Given the description of an element on the screen output the (x, y) to click on. 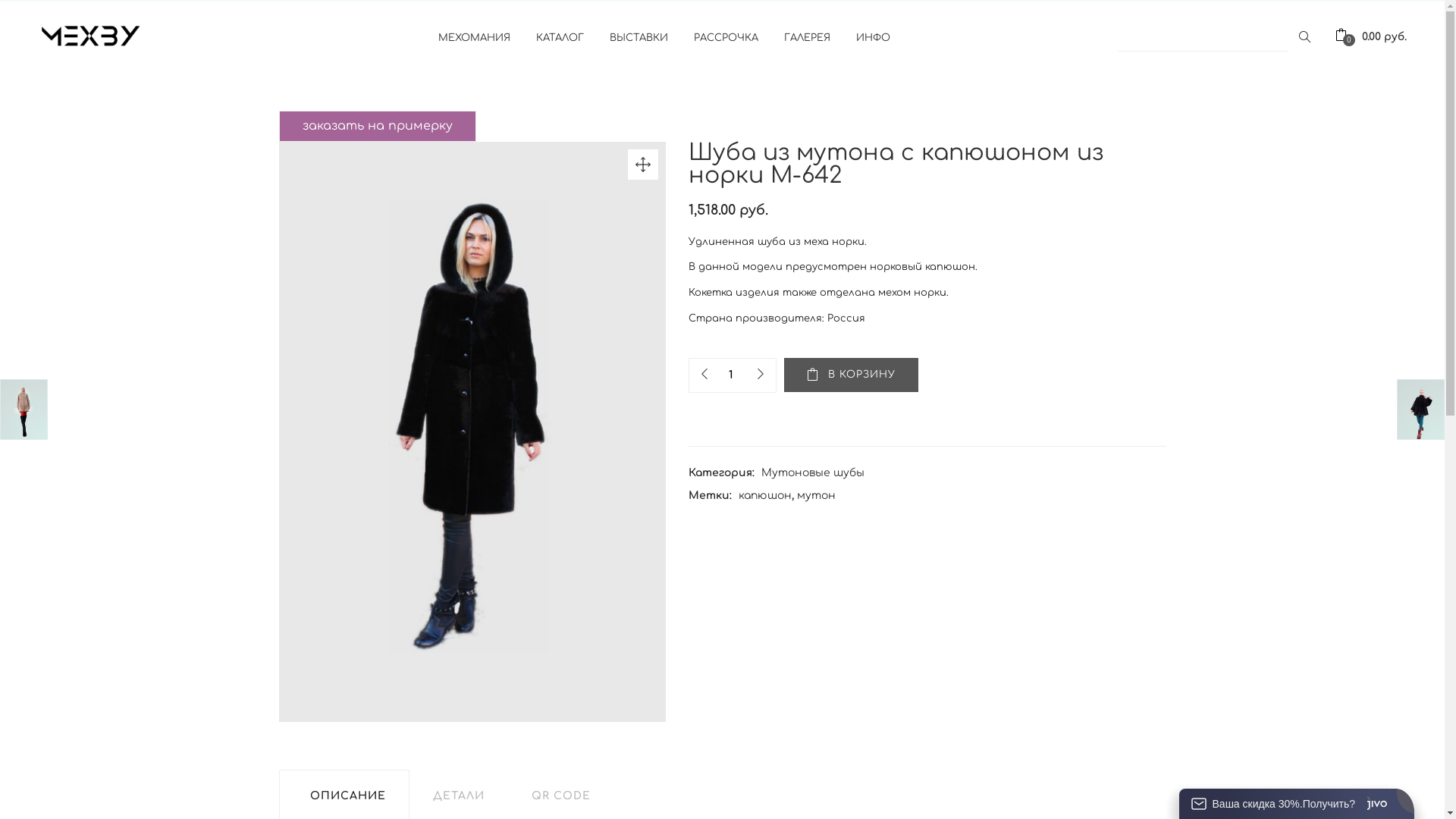
Qty Element type: hover (729, 374)
QR CODE Element type: text (559, 796)
